Given the description of an element on the screen output the (x, y) to click on. 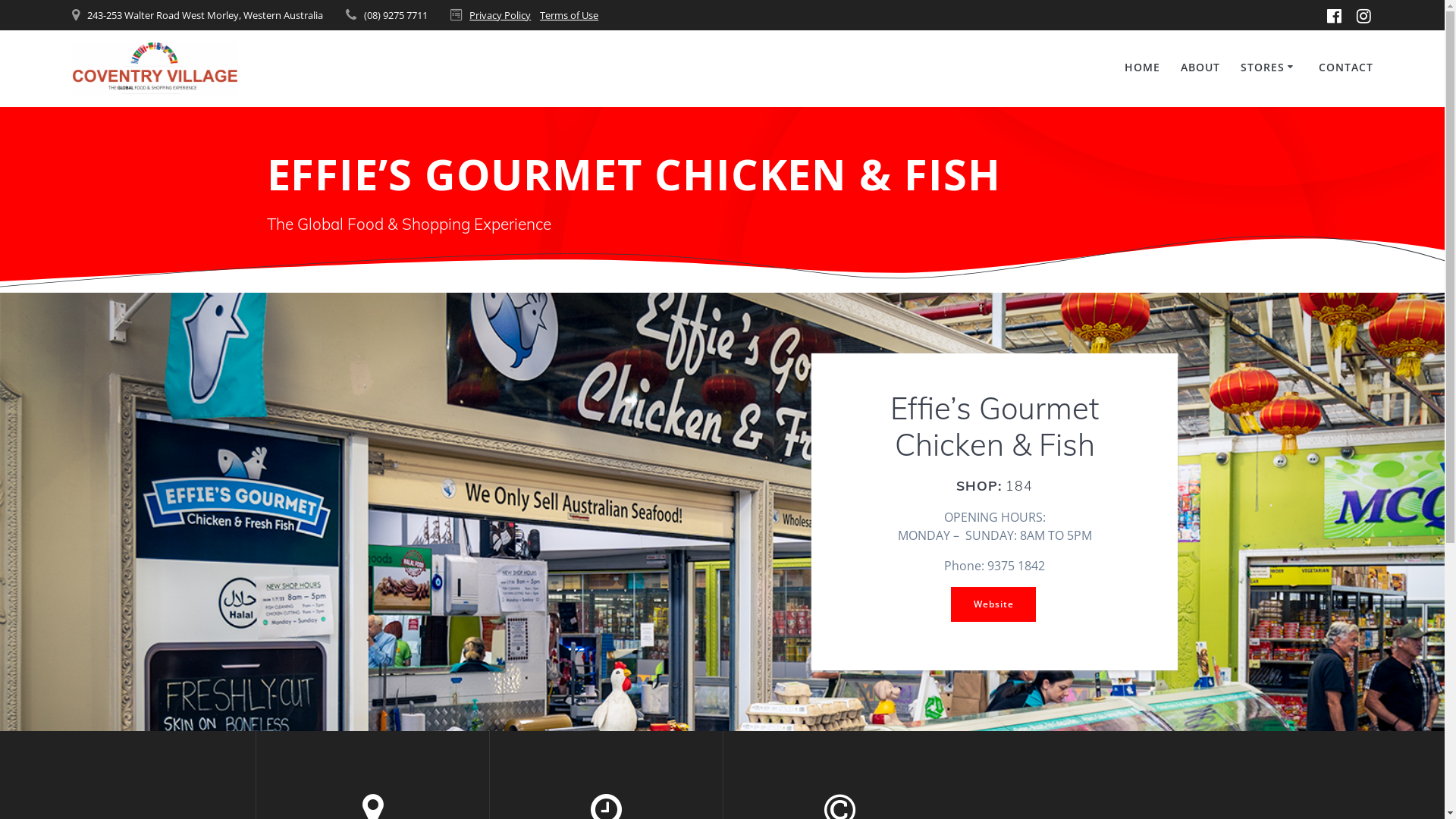
Terms of Use Element type: text (568, 14)
Website Element type: text (992, 603)
Privacy Policy Element type: text (499, 14)
CONTACT Element type: text (1345, 68)
ABOUT Element type: text (1200, 68)
HOME Element type: text (1142, 68)
STORES Element type: text (1269, 68)
